Given the description of an element on the screen output the (x, y) to click on. 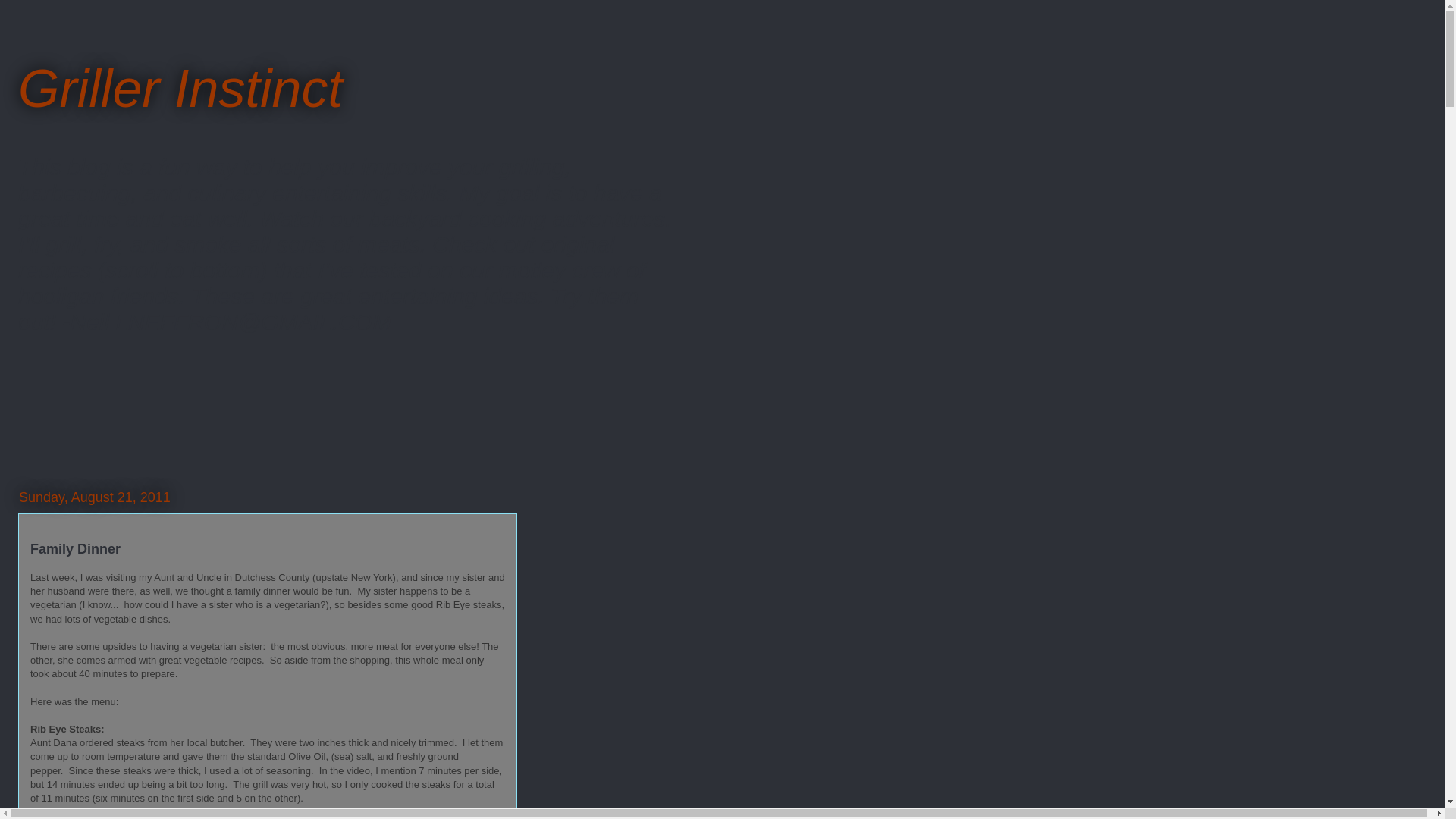
Griller Instinct (179, 87)
Family Dinner (75, 548)
